Given the description of an element on the screen output the (x, y) to click on. 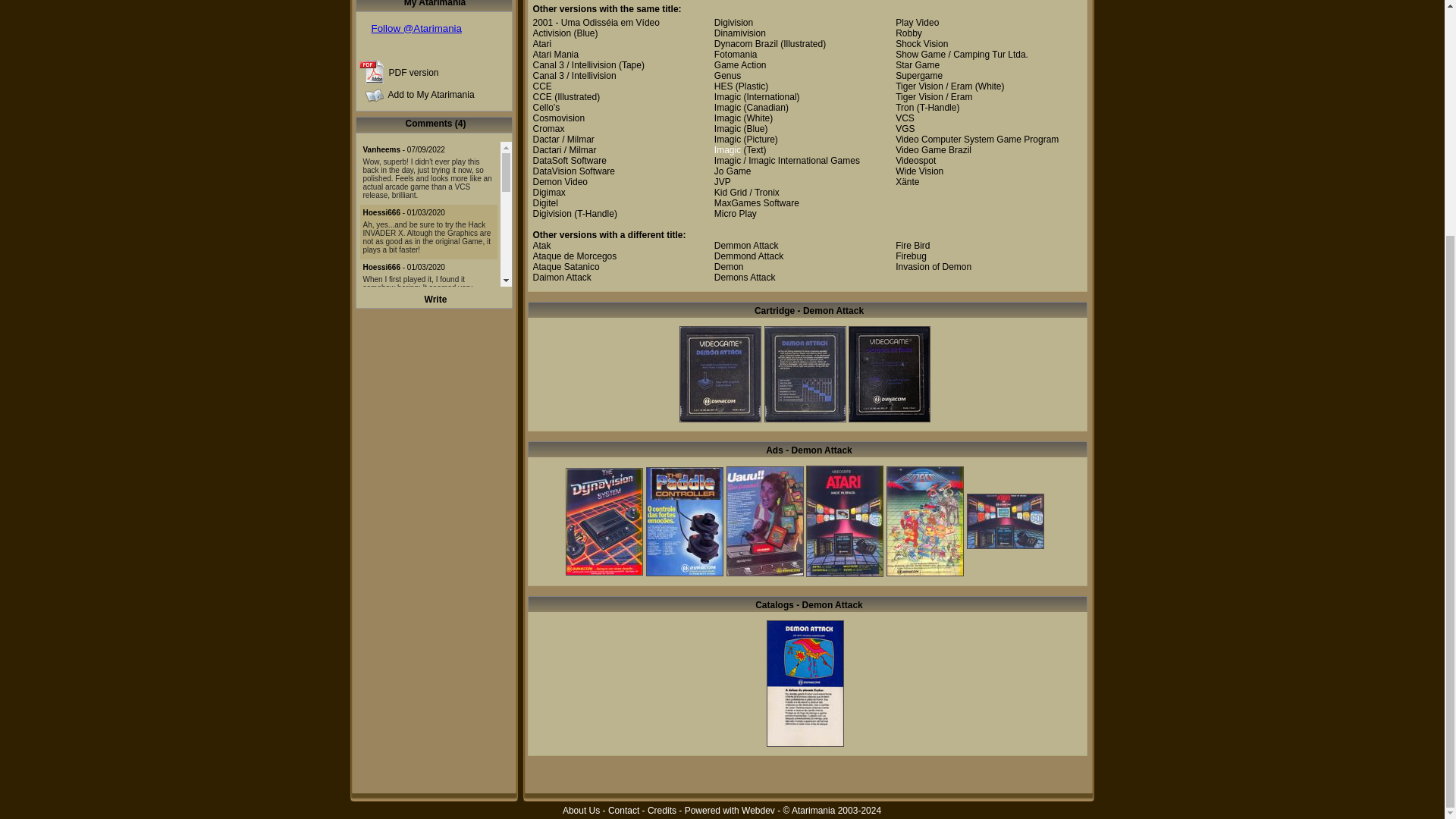
Write (435, 299)
PDF version (413, 72)
Add to My Atarimania (431, 94)
Write a comment (435, 299)
